Given the description of an element on the screen output the (x, y) to click on. 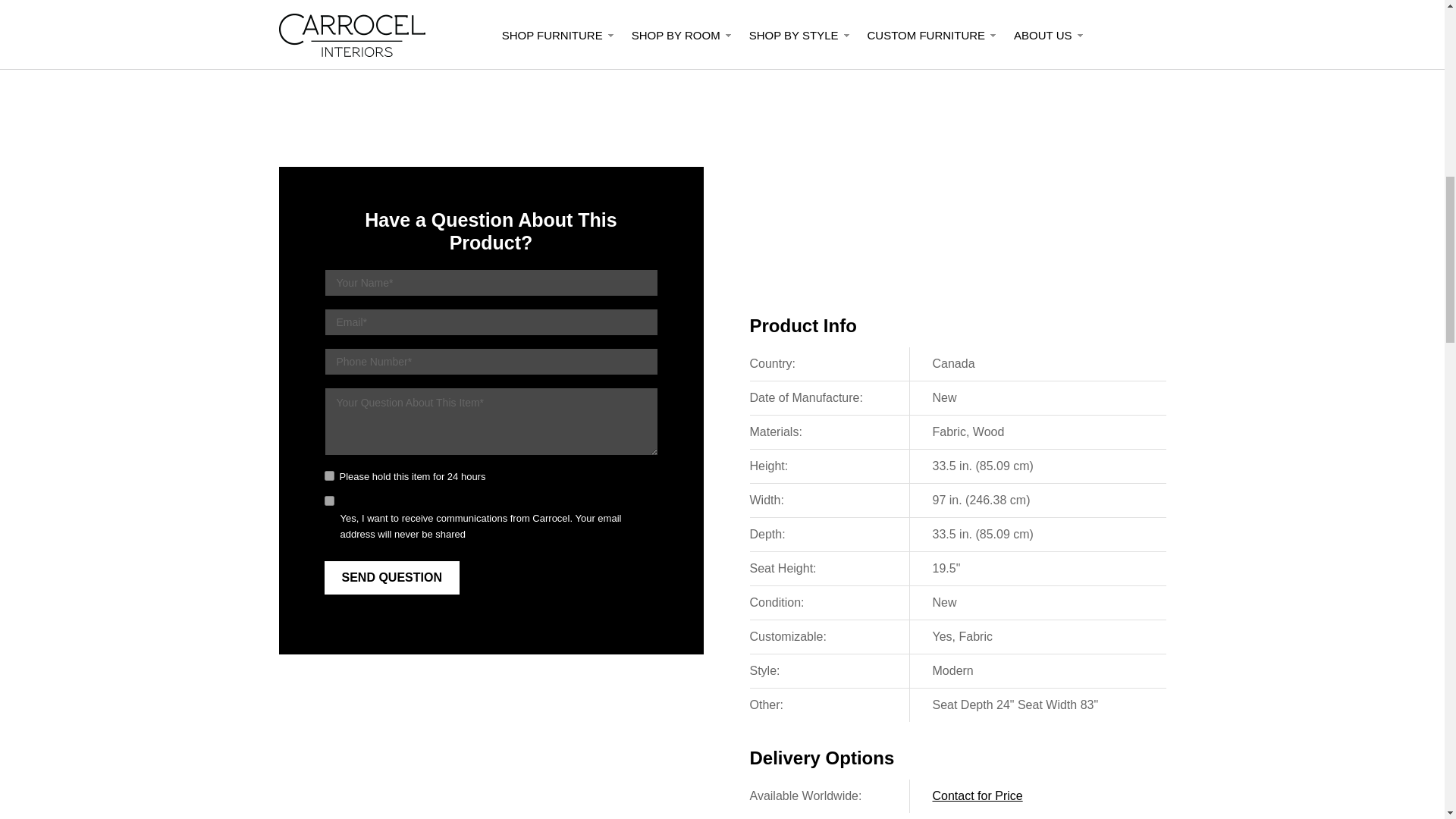
Send Question (392, 577)
Yes (329, 501)
Please hold this item for 24 hours (329, 475)
